Given the description of an element on the screen output the (x, y) to click on. 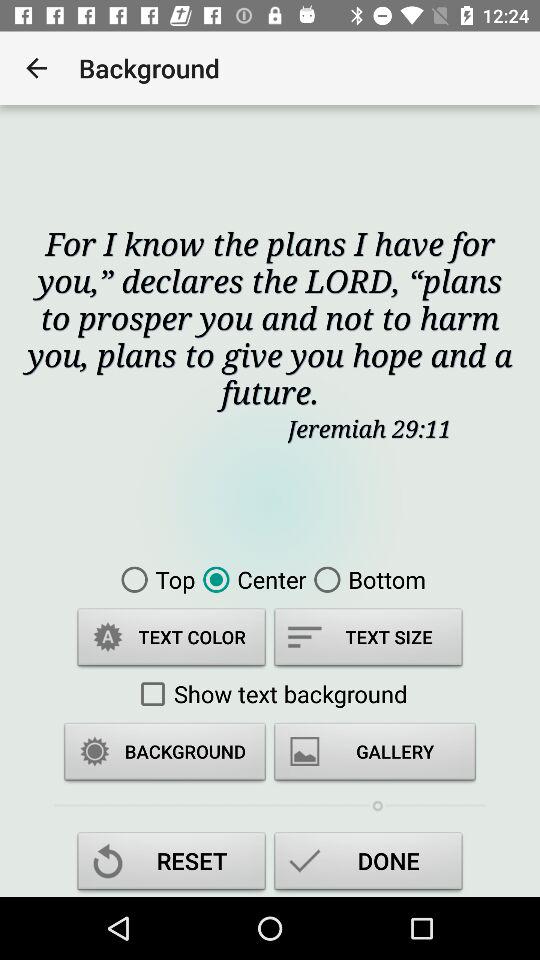
choose item above text color (154, 579)
